Given the description of an element on the screen output the (x, y) to click on. 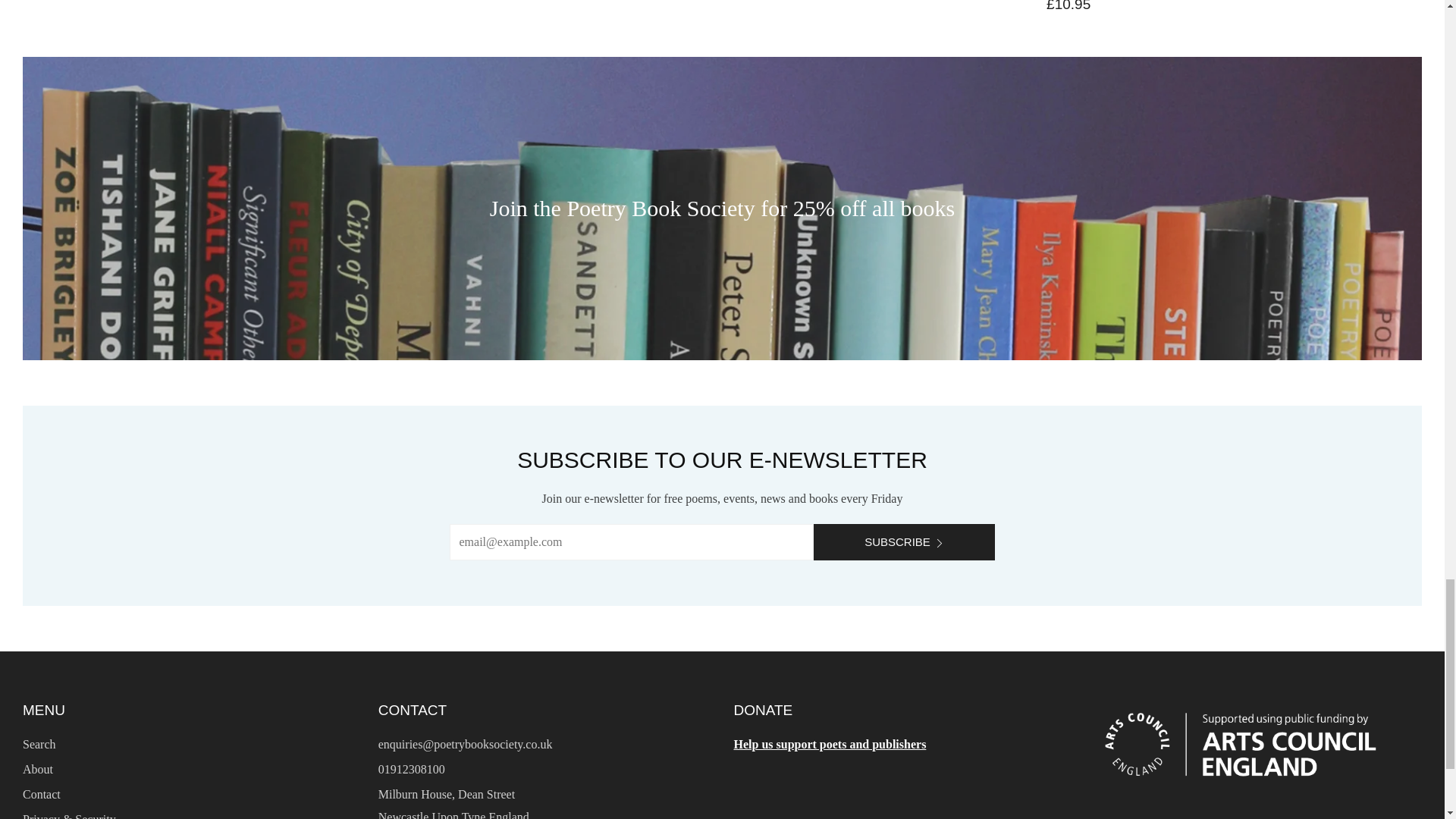
A Berlin Entrainment by Peter Hughes (1068, 5)
DONATE TO THE POETRY BOOK SOCIETY (829, 744)
